Given the description of an element on the screen output the (x, y) to click on. 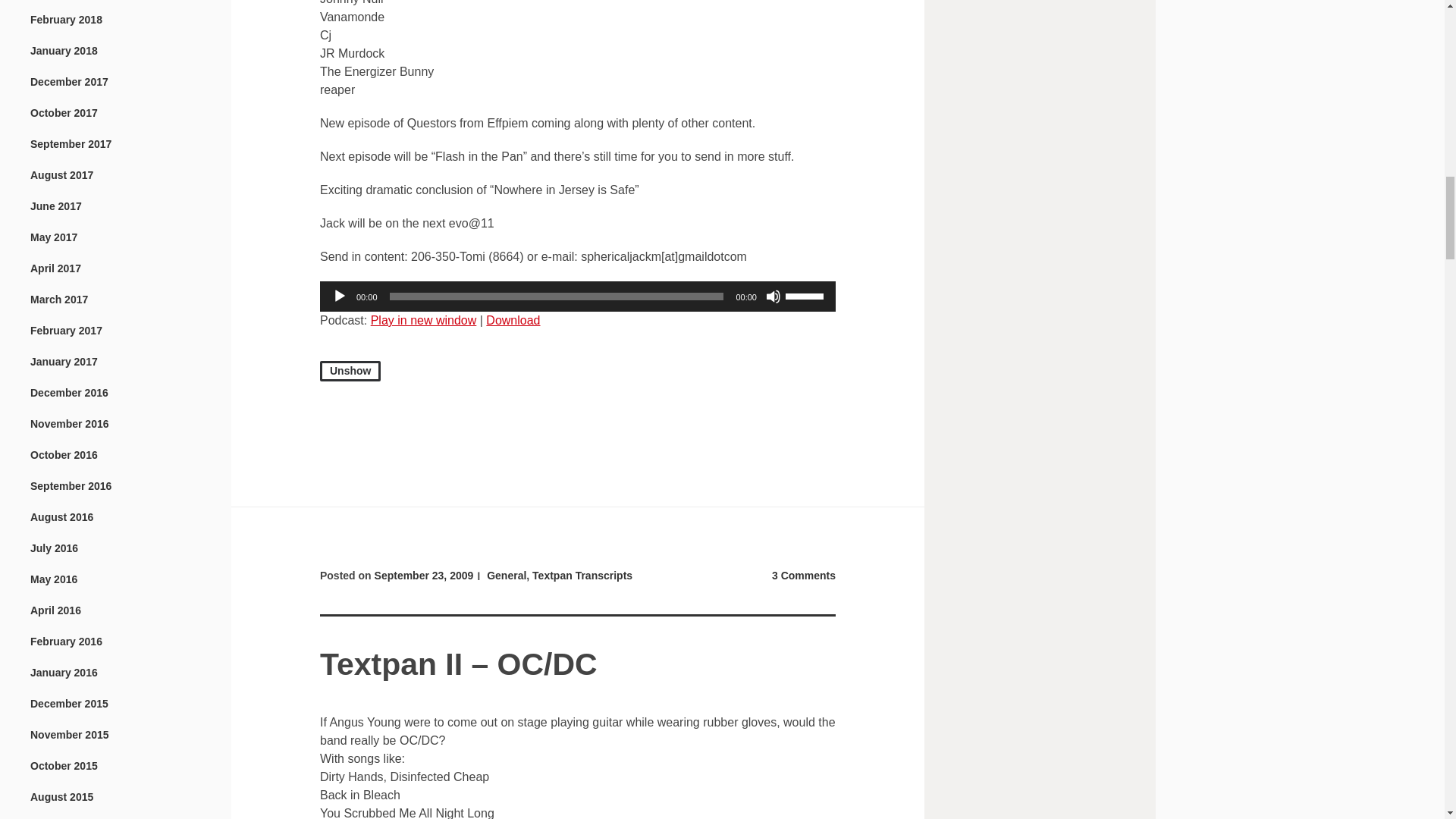
Mute (772, 296)
Download (513, 319)
Play (339, 296)
Play in new window (424, 319)
